Given the description of an element on the screen output the (x, y) to click on. 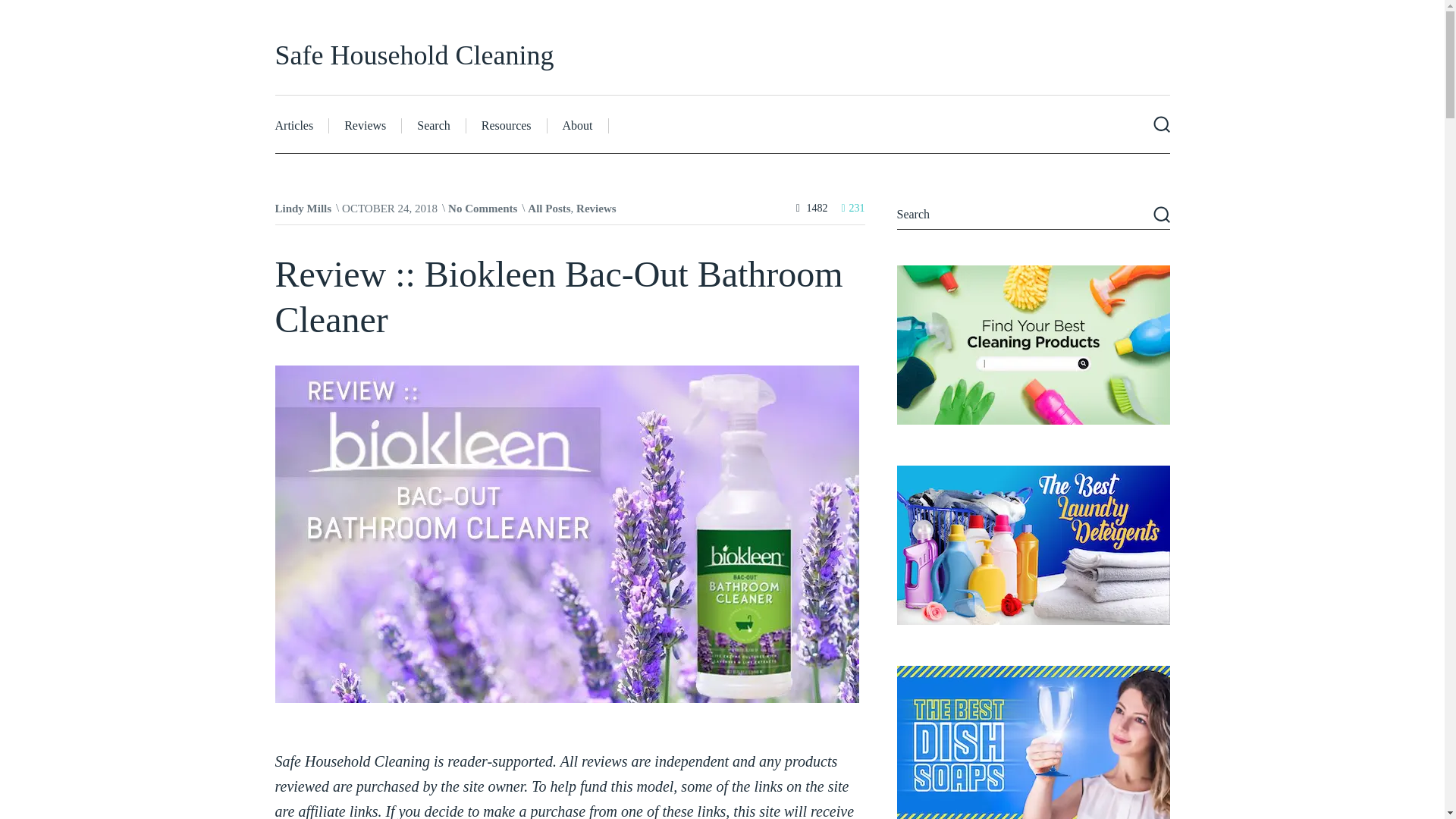
All Posts (548, 208)
Reviews (595, 208)
About (577, 125)
View all posts in Reviews (595, 208)
Lindy Mills (303, 208)
Safe Household Cleaning (414, 54)
Posts by Lindy Mills (303, 208)
Like (852, 207)
231 (852, 207)
Articles (302, 125)
